Given the description of an element on the screen output the (x, y) to click on. 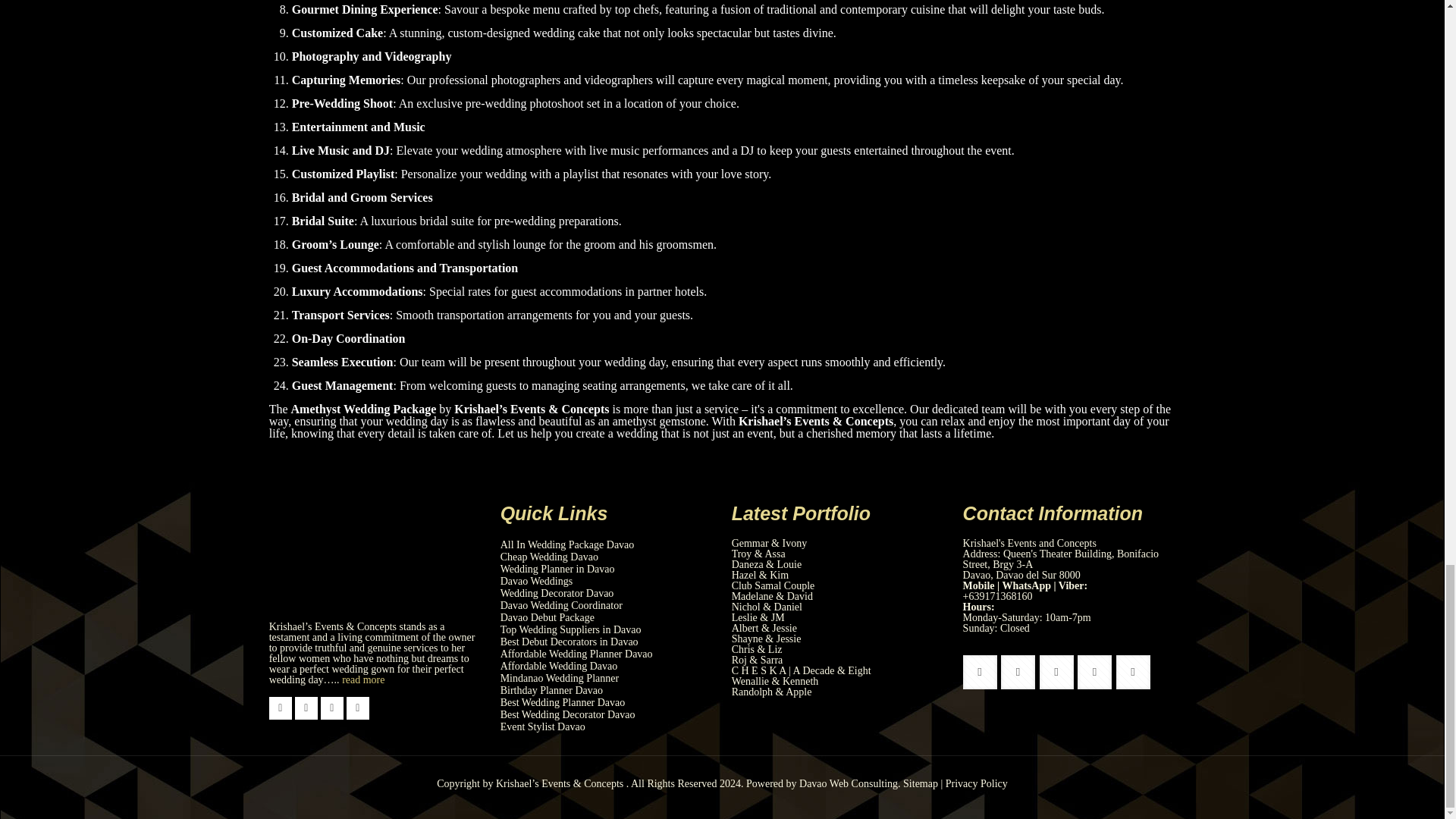
Club Samal Couple (773, 585)
